Given the description of an element on the screen output the (x, y) to click on. 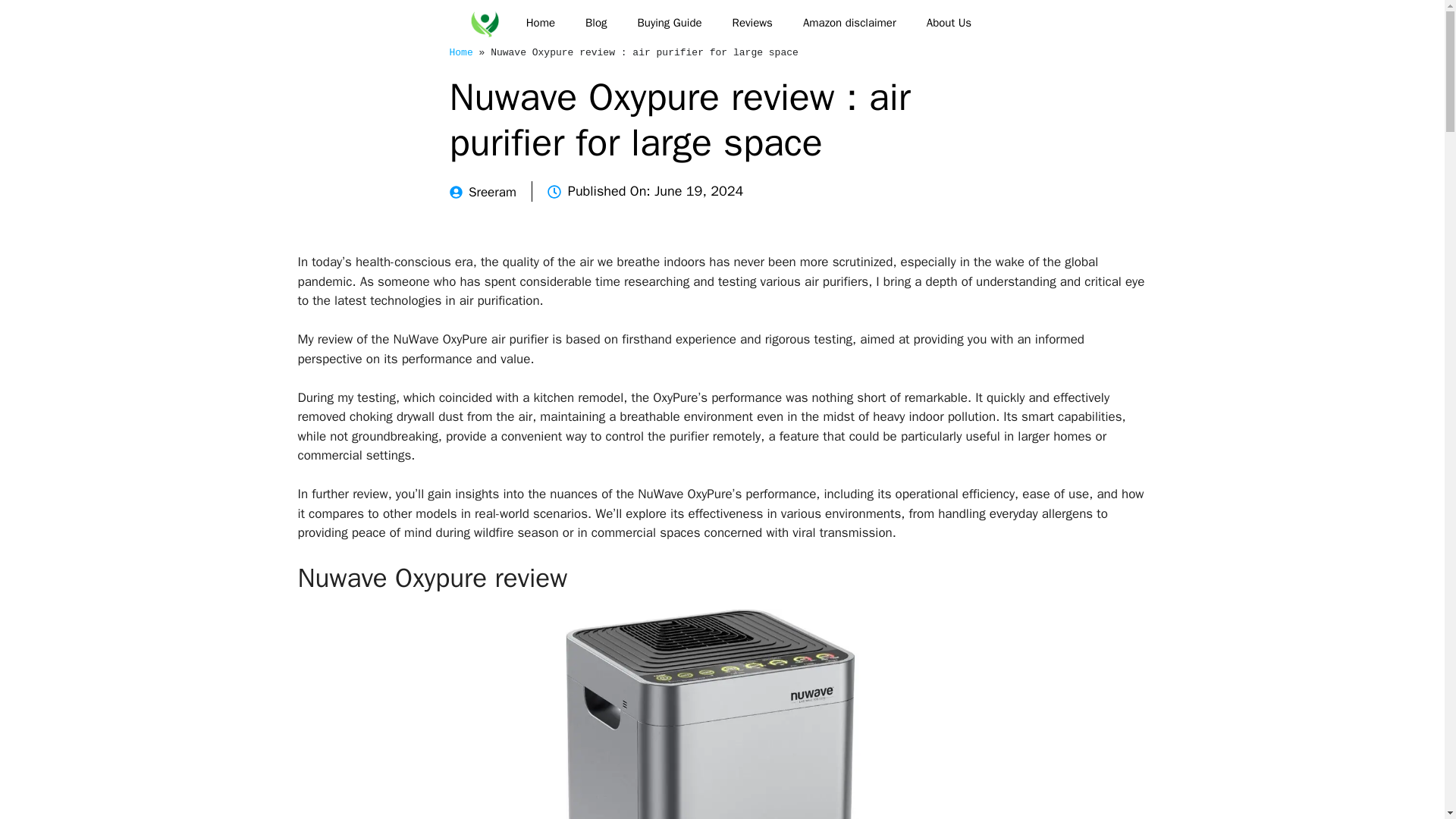
About Us (949, 22)
Home (540, 22)
Buying Guide (670, 22)
Reviews (752, 22)
Blog (595, 22)
Amazon disclaimer (849, 22)
Home (459, 52)
